Given the description of an element on the screen output the (x, y) to click on. 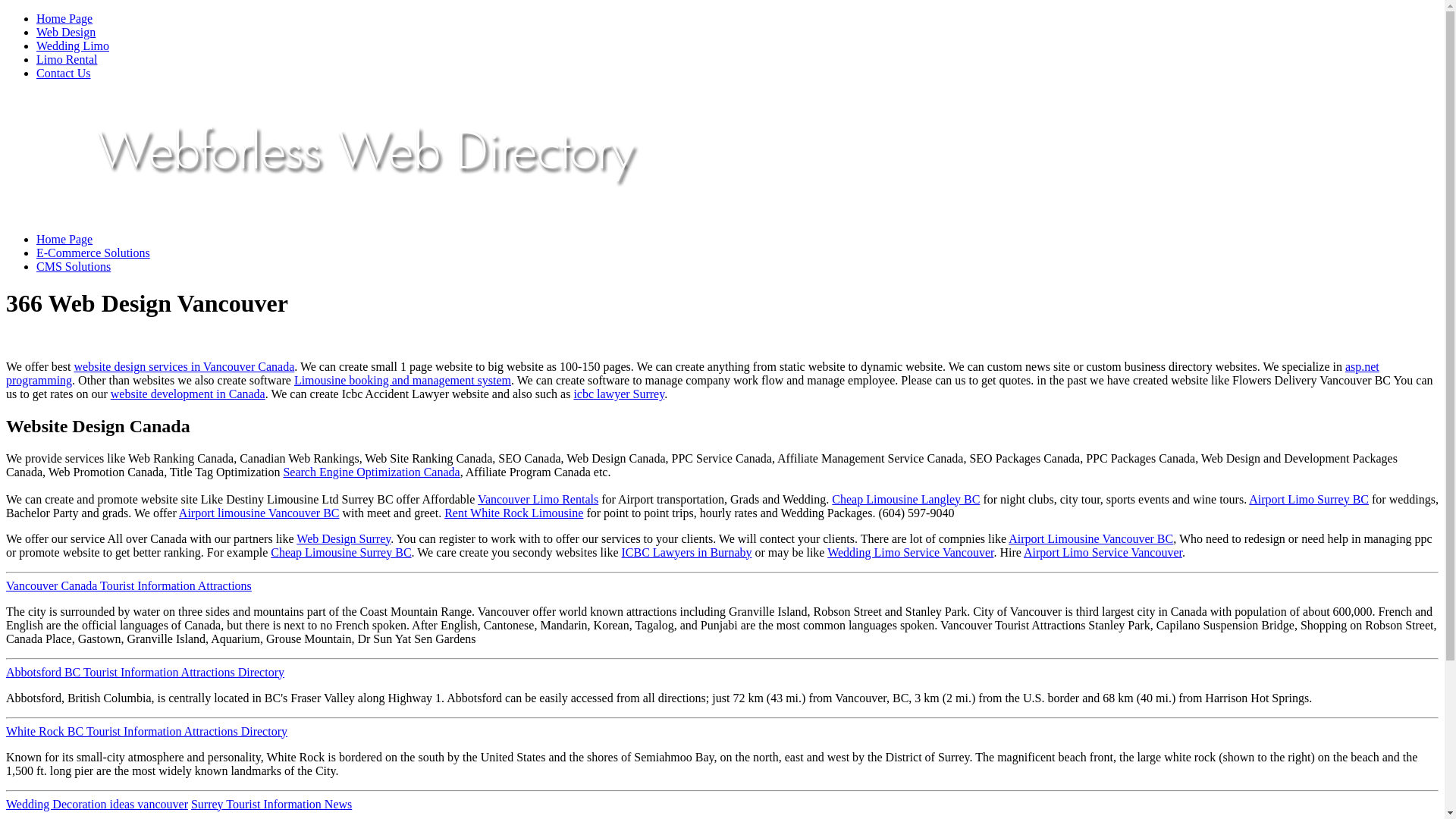
Search Engine Optimization Canada Element type: text (370, 471)
Wedding Decoration ideas vancouver Element type: text (97, 803)
Home Page Element type: text (64, 18)
ICBC Lawyers in Burnaby Element type: text (686, 552)
Cheap Limousine Surrey BC Element type: text (340, 552)
website development in Canada Element type: text (187, 393)
White Rock BC Tourist Information Attractions Directory Element type: text (146, 730)
website design services in Vancouver Canada Element type: text (184, 366)
Web Design Element type: text (65, 31)
Airport Limo Service Vancouver Element type: text (1102, 552)
E-Commerce Solutions Element type: text (93, 252)
Web Design Vancouver Element type: hover (375, 201)
icbc lawyer Surrey Element type: text (618, 393)
Limousine booking and management system Element type: text (402, 379)
Limo Rental Element type: text (66, 59)
Rent White Rock Limousine Element type: text (513, 512)
Vancouver Limo Rentals Element type: text (537, 498)
CMS Solutions Element type: text (73, 266)
Surrey Tourist Information News Element type: text (271, 803)
Cheap Limousine Langley BC Element type: text (905, 498)
Wedding Limo Element type: text (72, 45)
asp.net programming Element type: text (692, 373)
Vancouver Canada Tourist Information Attractions Element type: text (128, 585)
Web Design Surrey Element type: text (343, 538)
Airport limousine Vancouver BC Element type: text (258, 512)
Airport Limo Surrey BC Element type: text (1308, 498)
Home Page Element type: text (64, 238)
Airport Limousine Vancouver BC Element type: text (1090, 538)
Wedding Limo Service Vancouver Element type: text (910, 552)
Abbotsford BC Tourist Information Attractions Directory Element type: text (145, 671)
Contact Us Element type: text (63, 72)
